Given the description of an element on the screen output the (x, y) to click on. 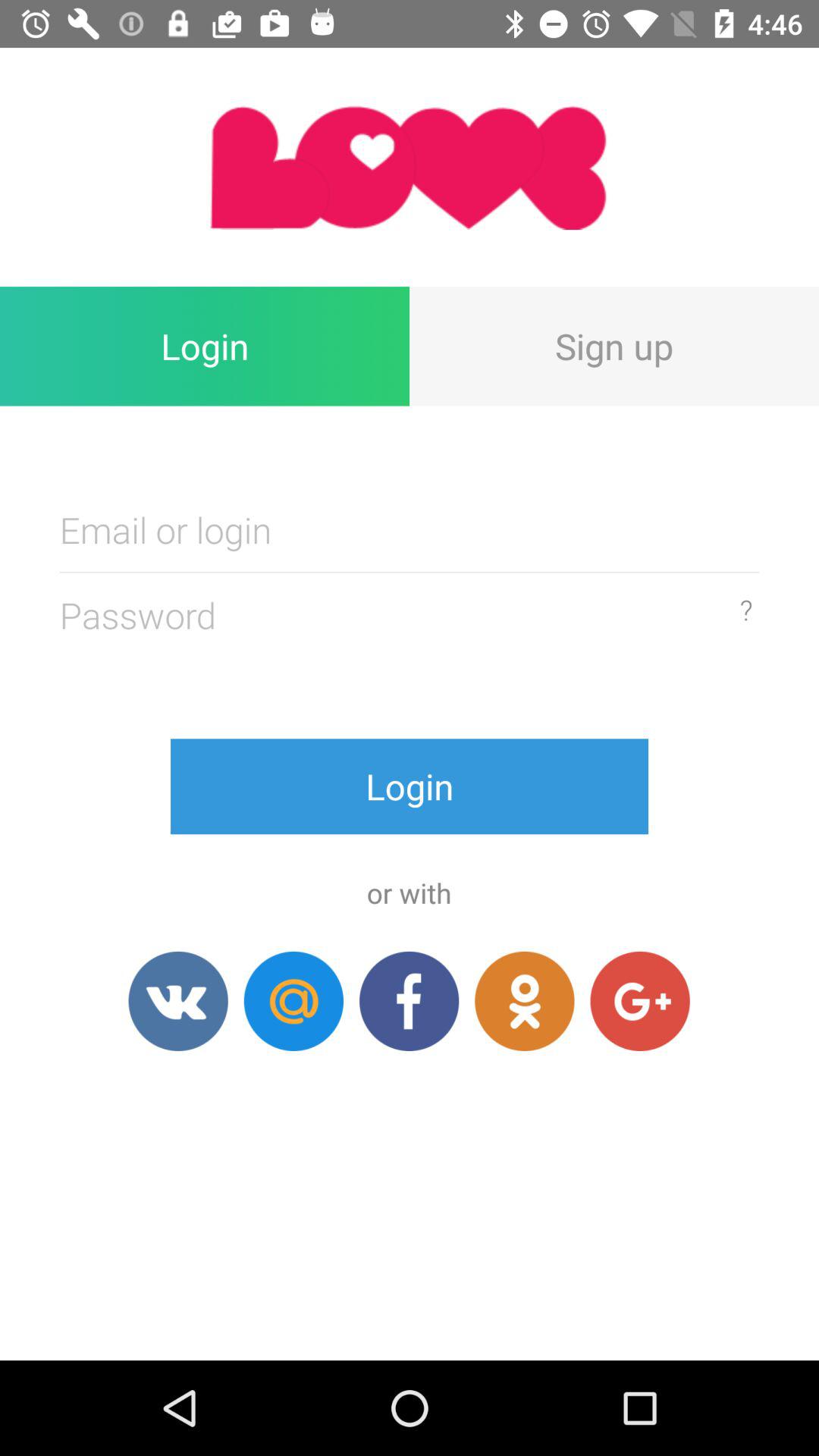
turn off item above the login item (409, 166)
